Given the description of an element on the screen output the (x, y) to click on. 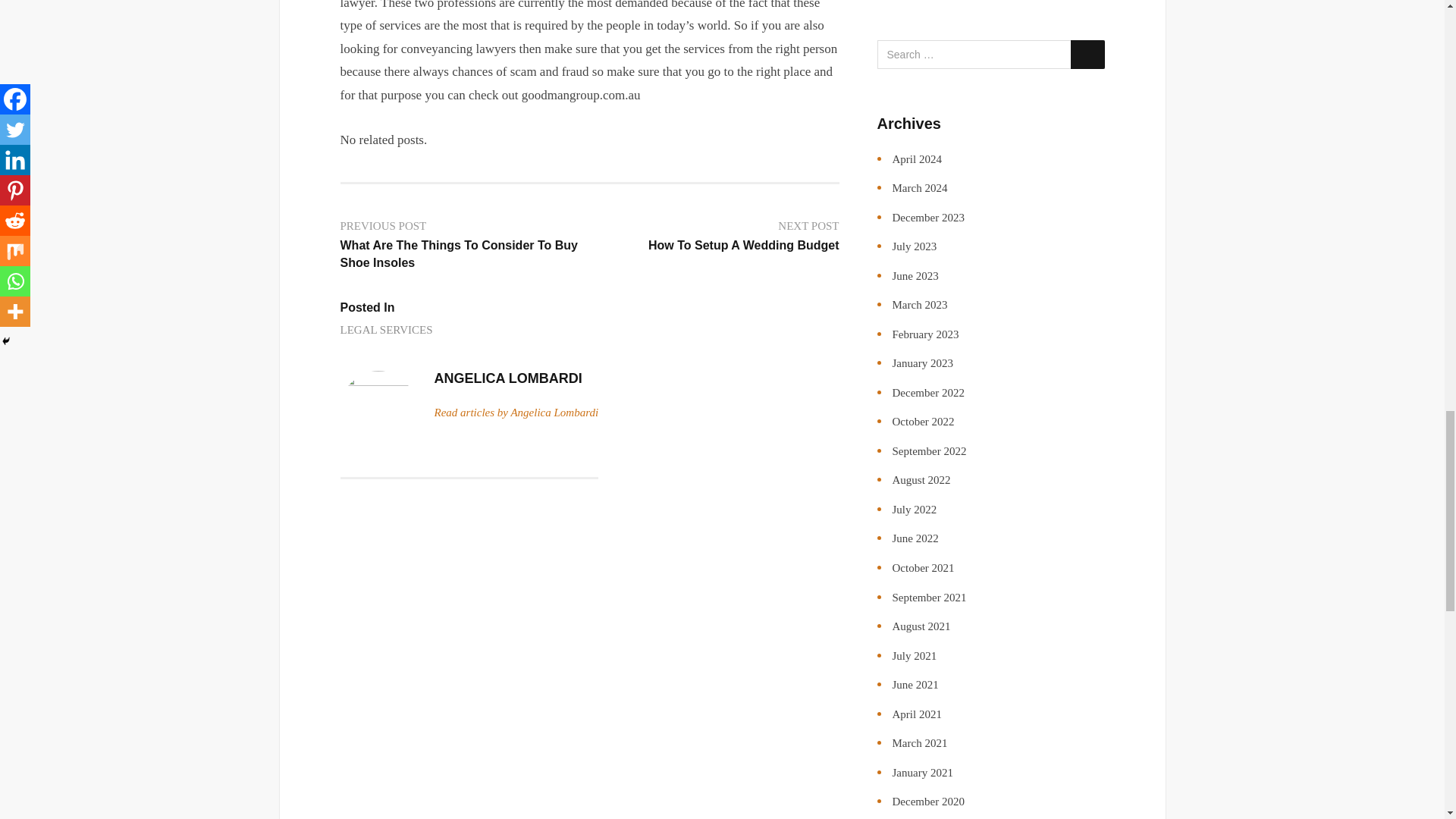
Read articles by Angelica Lombardi (515, 412)
LEGAL SERVICES (718, 236)
